Given the description of an element on the screen output the (x, y) to click on. 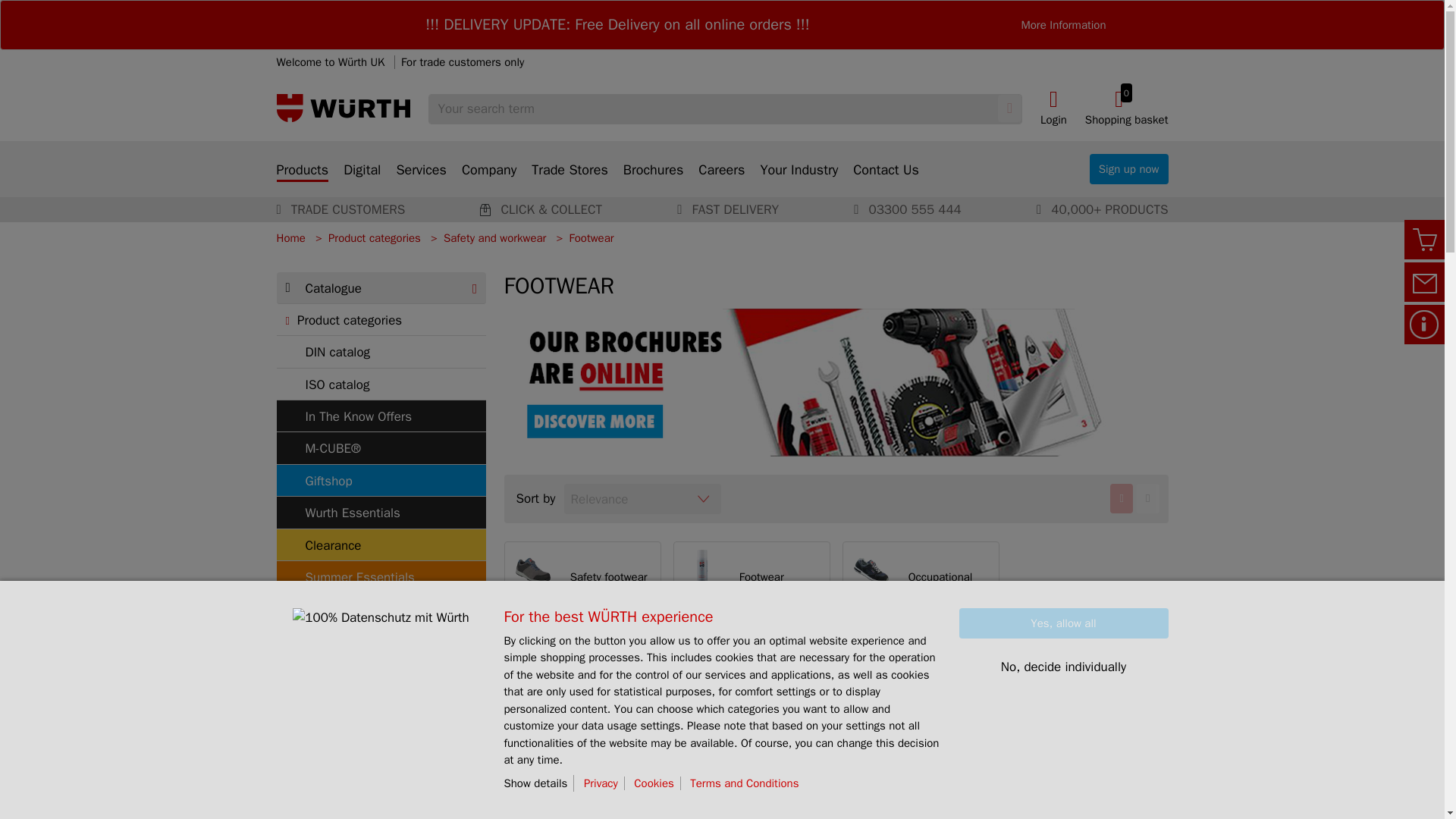
Delivery Notice (1062, 24)
Products (302, 170)
Services (421, 178)
Digital (361, 178)
Wurth UK Ltd (342, 108)
View our wide range of brochures here! (835, 381)
Free Delivery (617, 24)
Popular products from category Footwear (835, 737)
More Information (1126, 107)
